Given the description of an element on the screen output the (x, y) to click on. 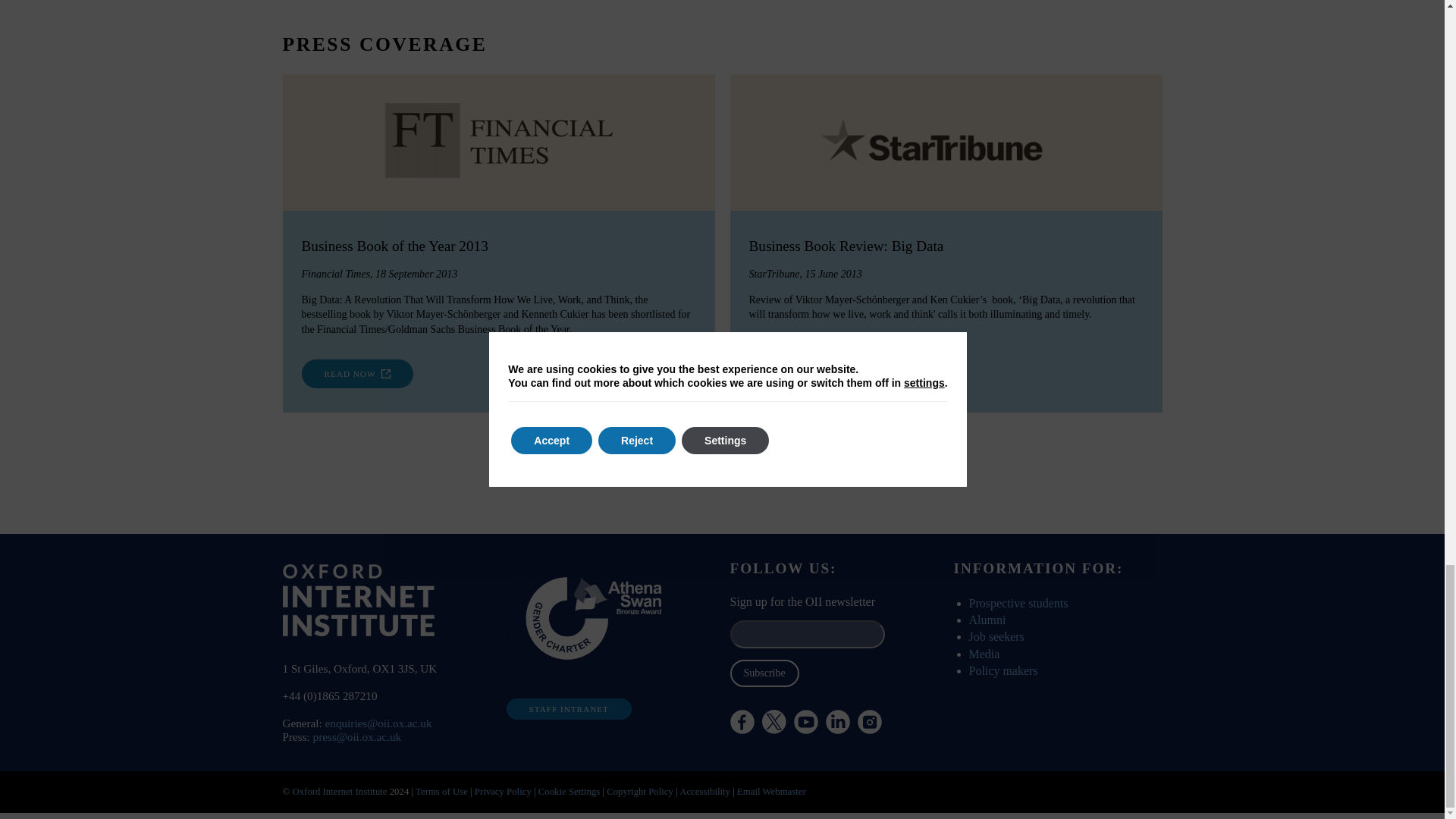
Instagram link (868, 721)
YouTube link (804, 721)
Subscribe (763, 673)
Twitter link (814, 762)
Facebook link (741, 721)
LinkedIn link (836, 721)
